Given the description of an element on the screen output the (x, y) to click on. 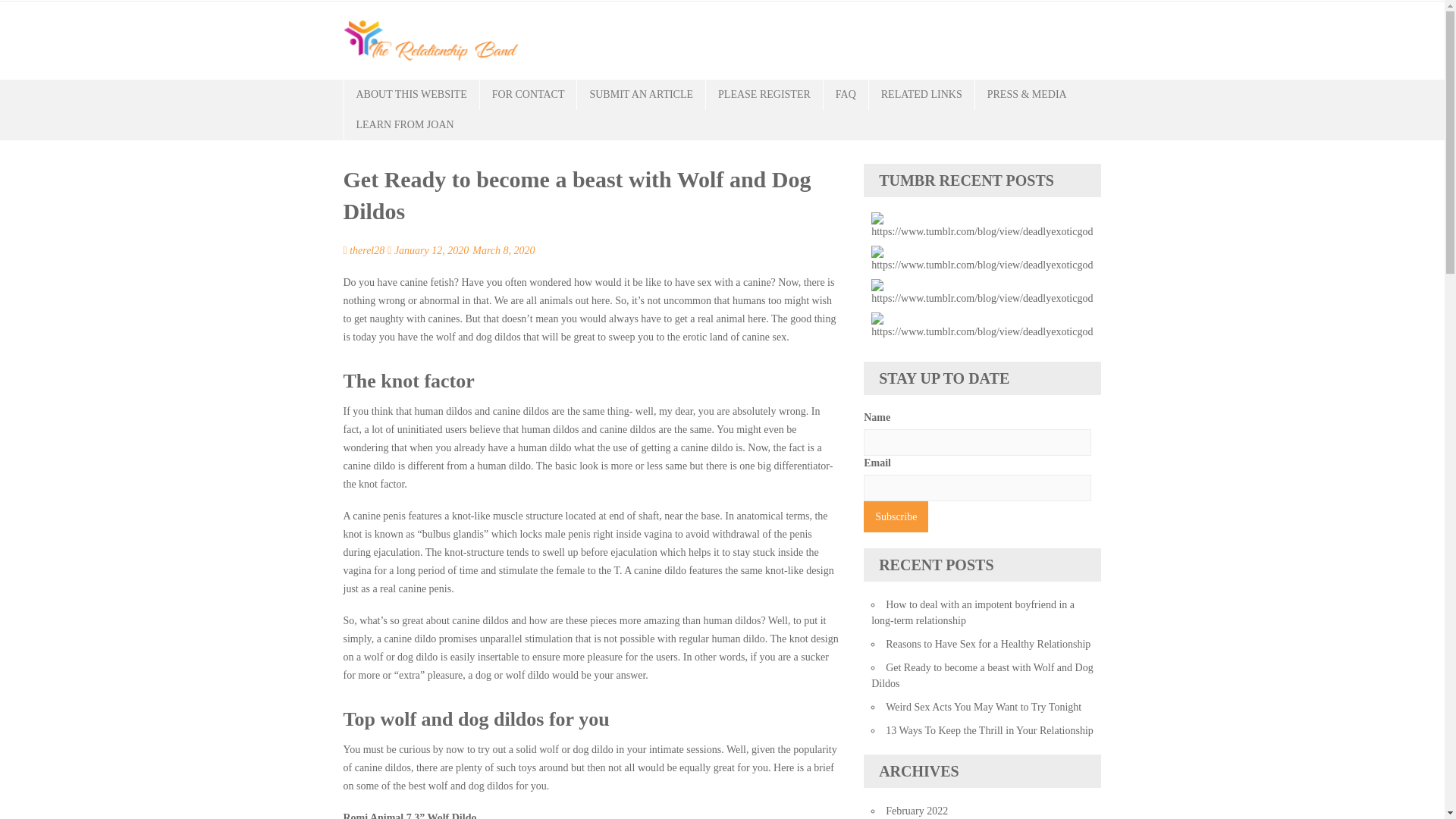
RELATED LINKS (921, 94)
January 12, 2020March 8, 2020 (466, 250)
FAQ (845, 94)
Subscribe (895, 516)
ABOUT THIS WEBSITE (411, 94)
SUBMIT AN ARTICLE (640, 94)
PLEASE REGISTER (764, 94)
13 Ways To Keep the Thrill in Your Relationship (989, 730)
therel28 (366, 250)
Weird Sex Acts You May Want to Try Tonight (983, 706)
FOR CONTACT (528, 94)
Reasons to Have Sex for a Healthy Relationship (987, 644)
February 2022 (916, 810)
LEARN FROM JOAN (404, 124)
